Given the description of an element on the screen output the (x, y) to click on. 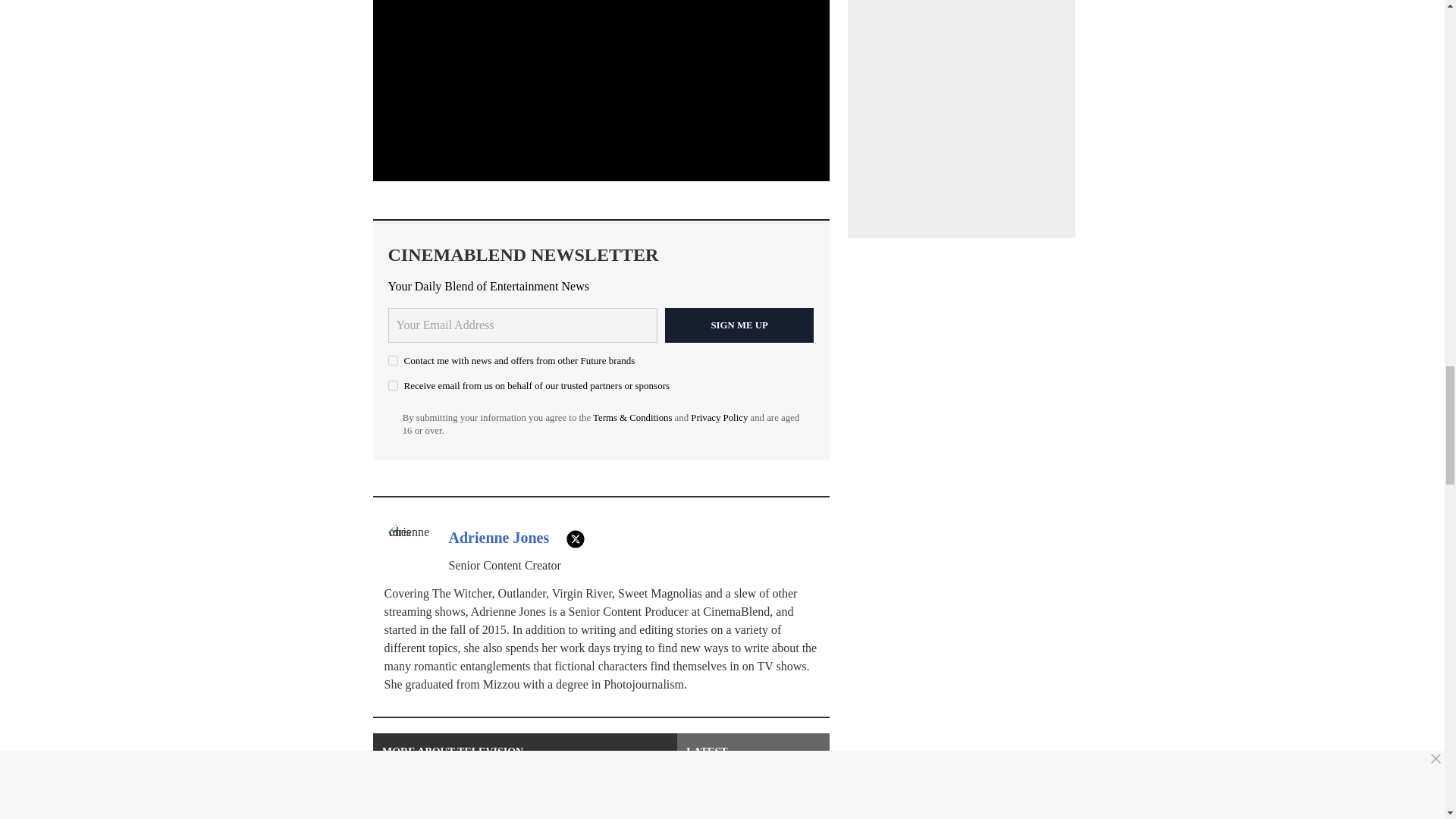
Sign me up (739, 325)
on (392, 360)
on (392, 385)
